Given the description of an element on the screen output the (x, y) to click on. 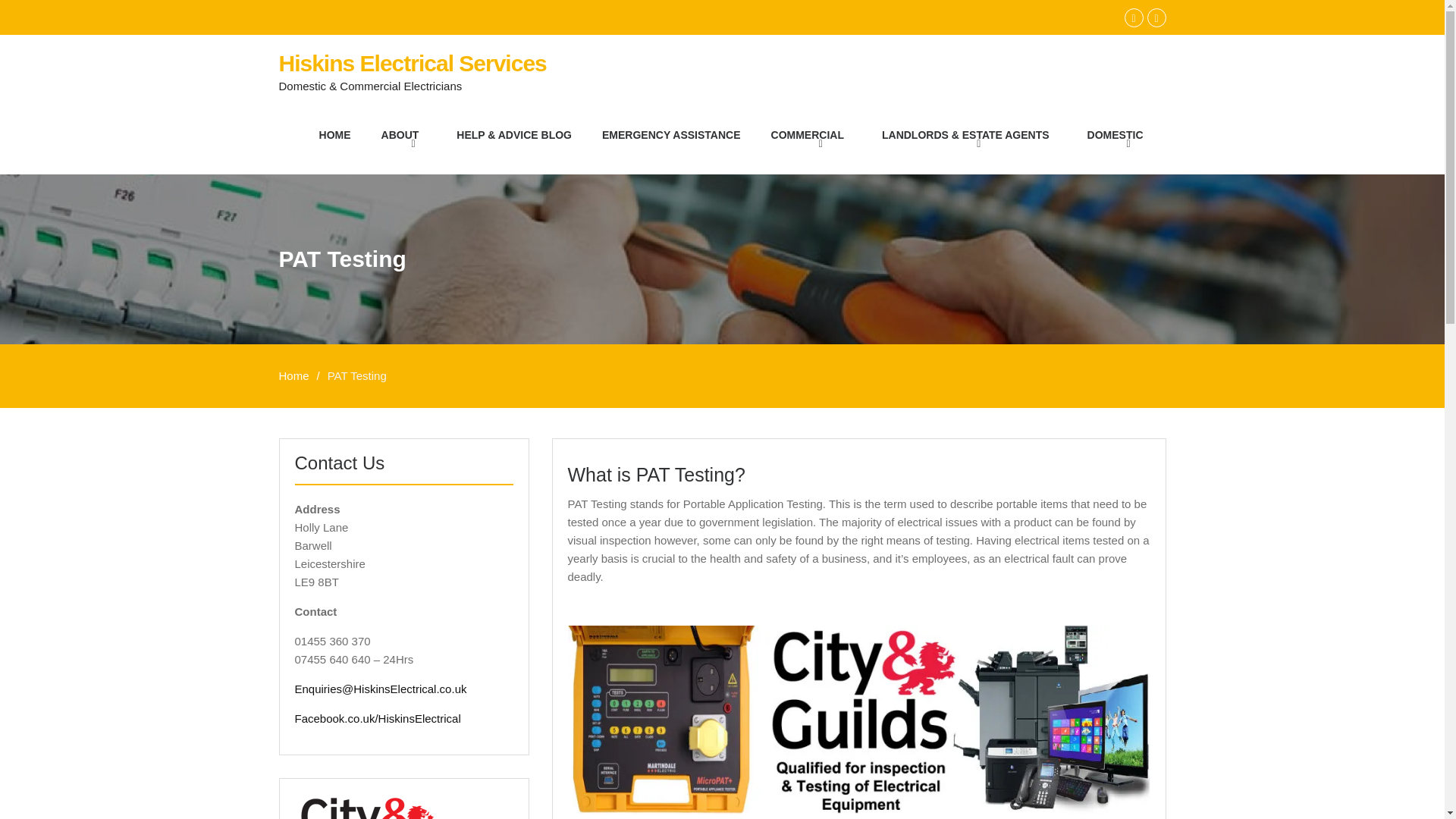
Facebook (1133, 17)
Home (293, 375)
DOMESTIC (1118, 134)
ABOUT (404, 134)
EMERGENCY ASSISTANCE (670, 134)
COMMERCIAL (810, 134)
Hiskins Electrical Services (413, 63)
Email (1156, 17)
